Given the description of an element on the screen output the (x, y) to click on. 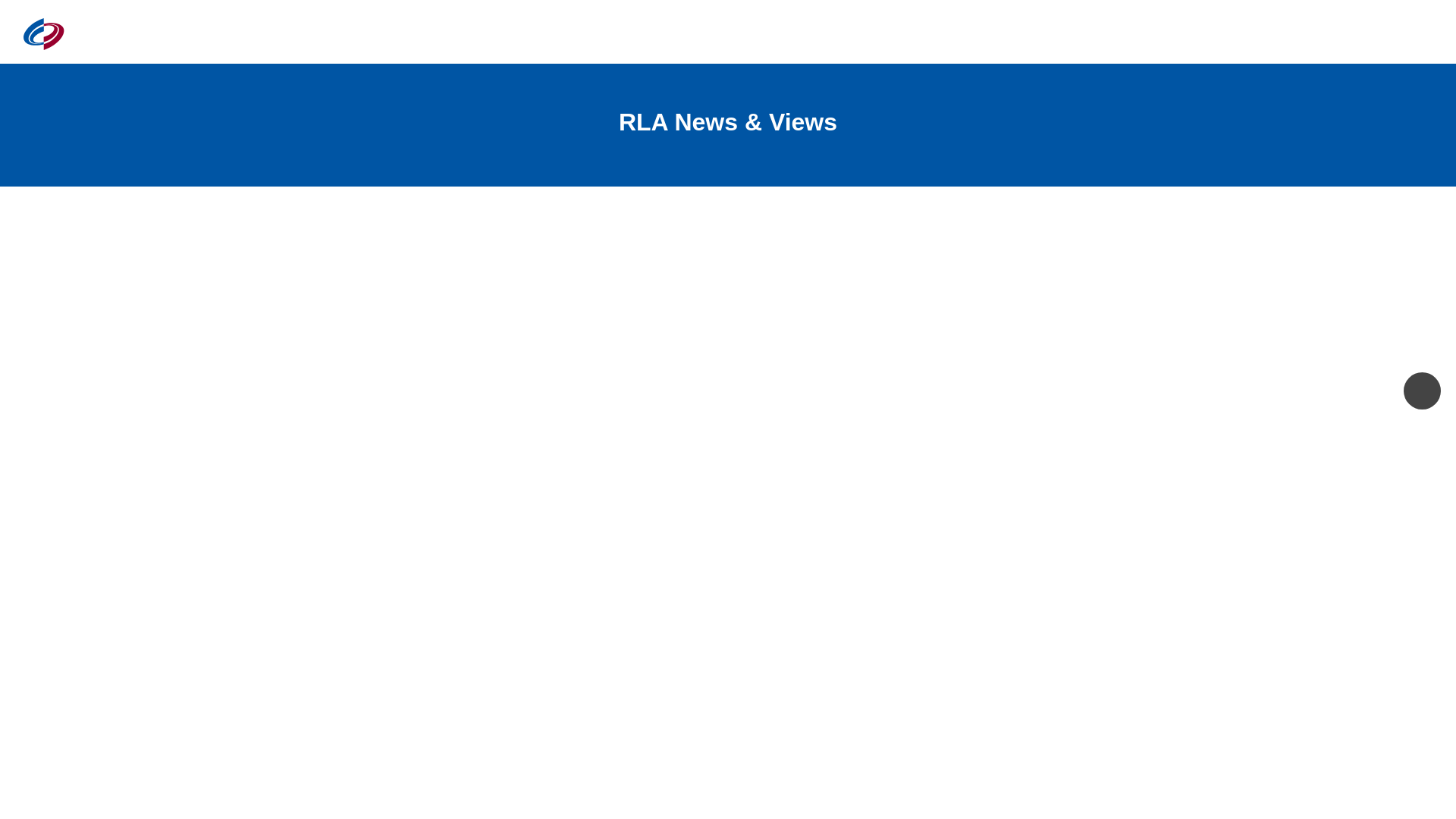
Resources (1077, 32)
Members (890, 32)
Events (813, 32)
Committees (982, 32)
Standards (1168, 32)
